Given the description of an element on the screen output the (x, y) to click on. 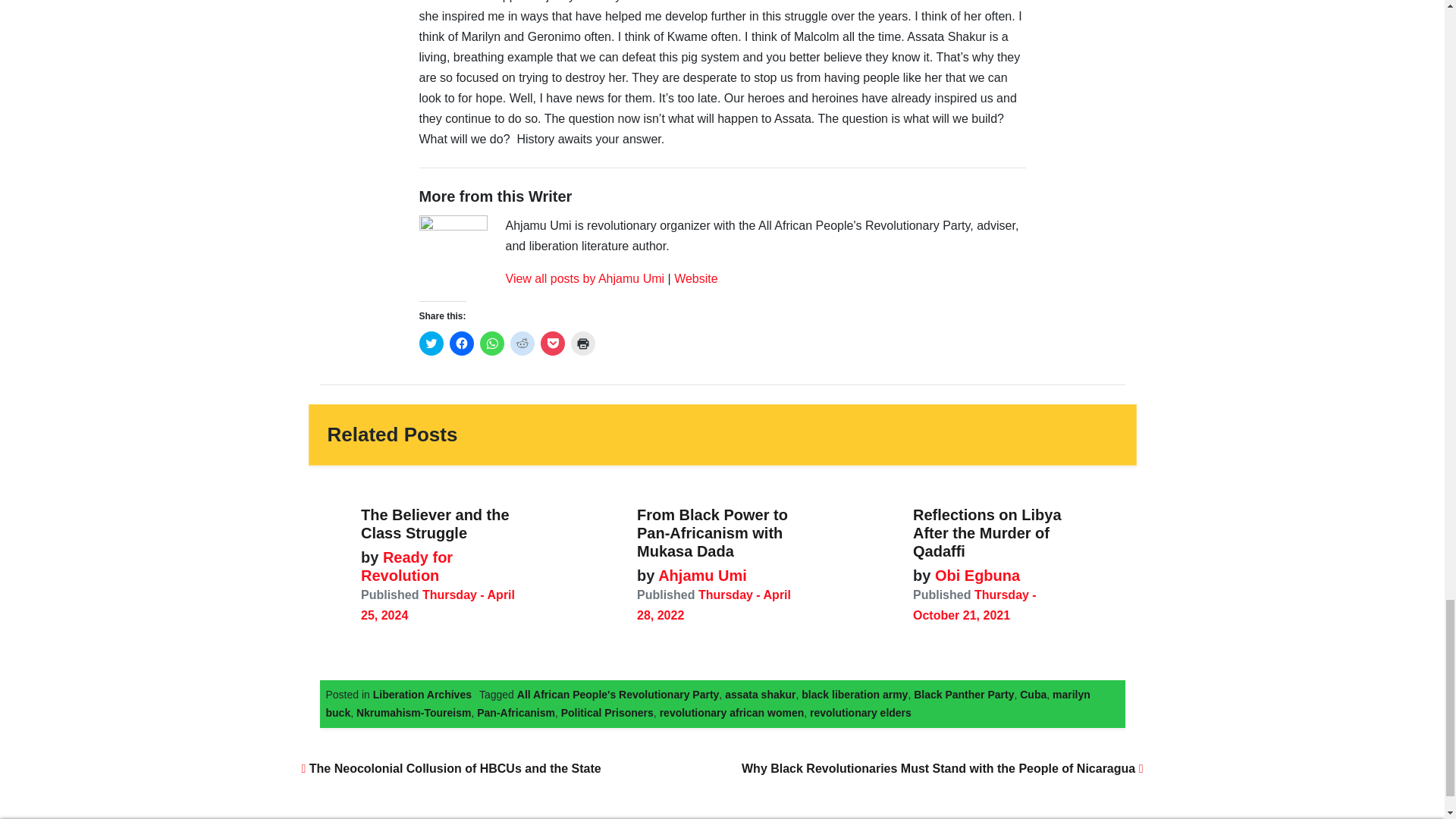
From Black Power to Pan-Africanism with Mukasa Dada (712, 532)
Ready for Revolution (406, 565)
Thursday - April 25, 2024 (438, 604)
Thursday - April 28, 2022 (713, 604)
Website (695, 278)
Ahjamu Umi (699, 575)
The Believer and the Class Struggle (435, 523)
View all posts by Ahjamu Umi (584, 278)
